Given the description of an element on the screen output the (x, y) to click on. 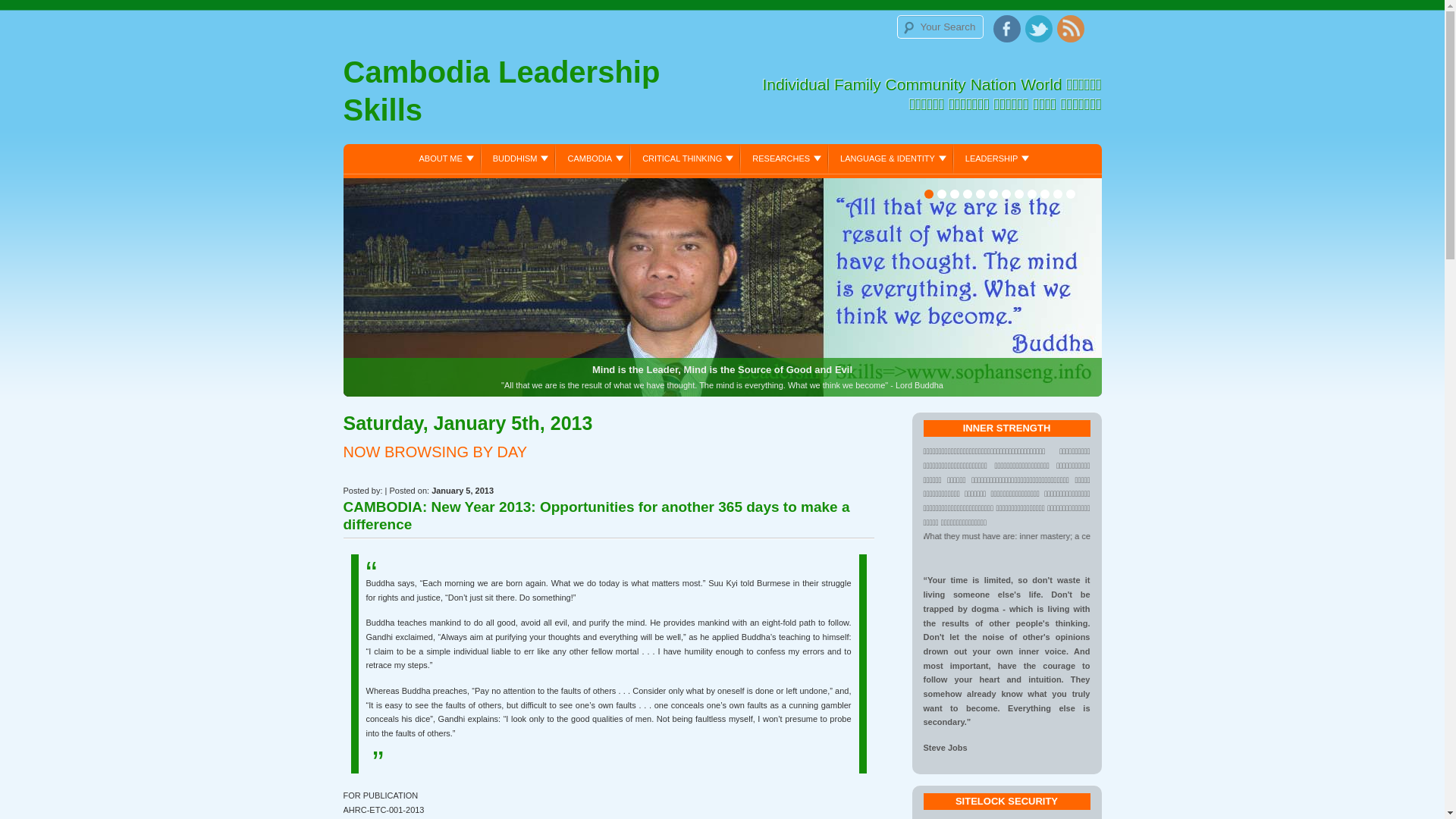
Search (29, 13)
BUDDHISM (518, 158)
CAMBODIA (593, 158)
ABOUT ME (444, 158)
CRITICAL THINKING (685, 158)
Cambodia Leadership Skills (532, 94)
